Given the description of an element on the screen output the (x, y) to click on. 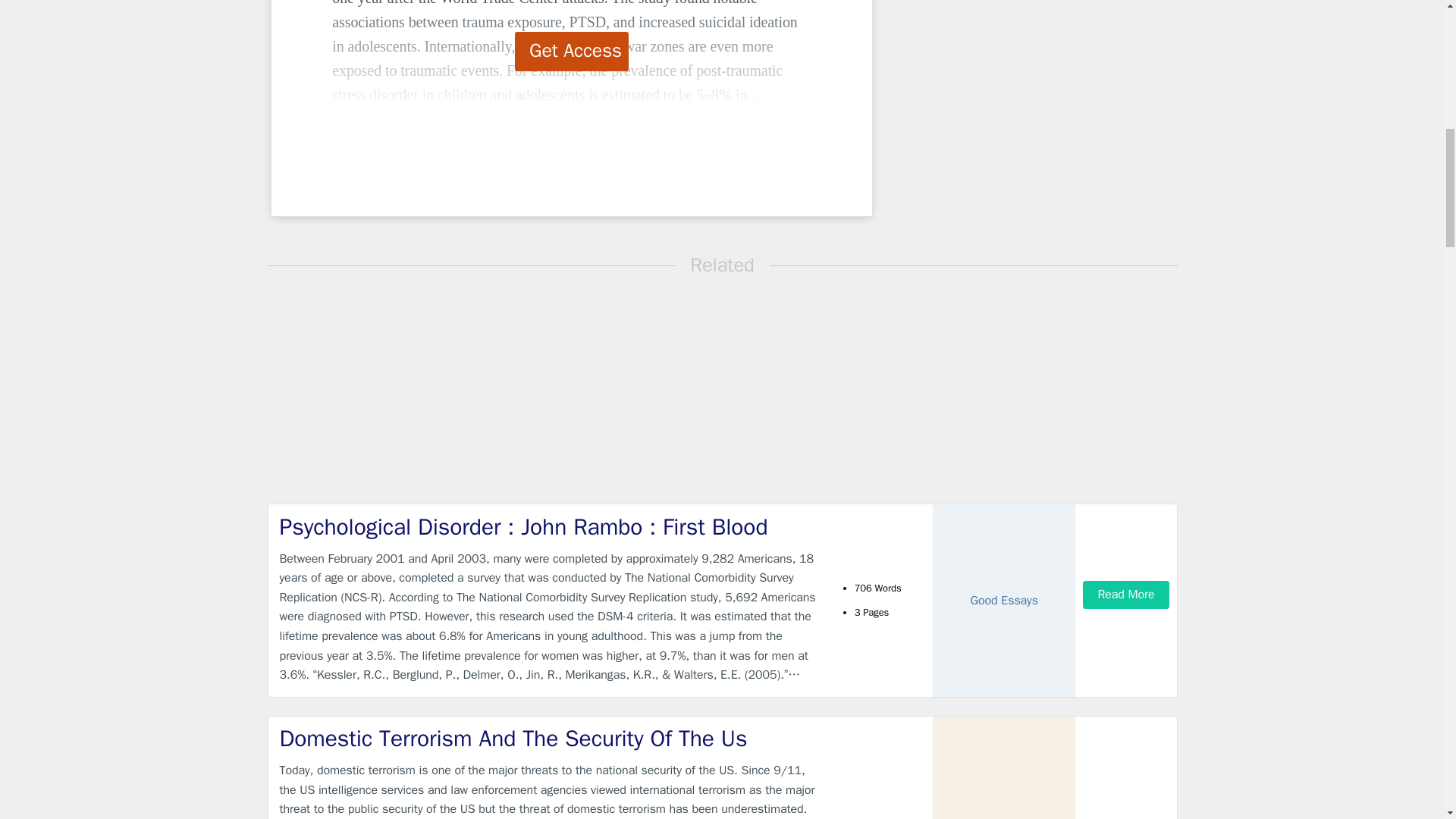
Psychological Disorder : John Rambo : First Blood (548, 526)
Read More (1126, 594)
Domestic Terrorism And The Security Of The Us (548, 738)
Get Access (571, 51)
